Given the description of an element on the screen output the (x, y) to click on. 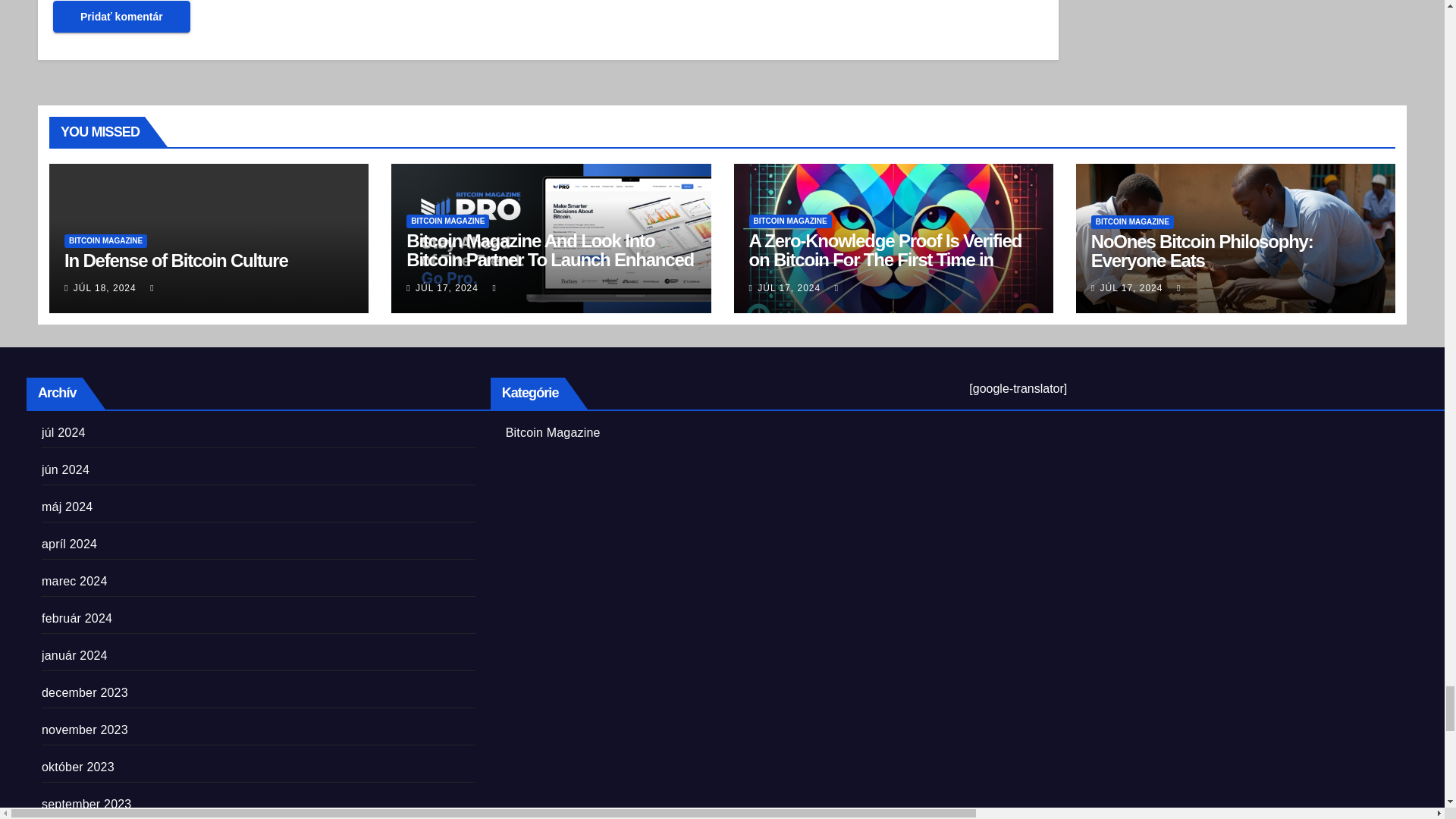
Permalink to: NoOnes Bitcoin Philosophy: Everyone Eats (1201, 250)
Permalink to: In Defense of Bitcoin Culture (176, 260)
